Given the description of an element on the screen output the (x, y) to click on. 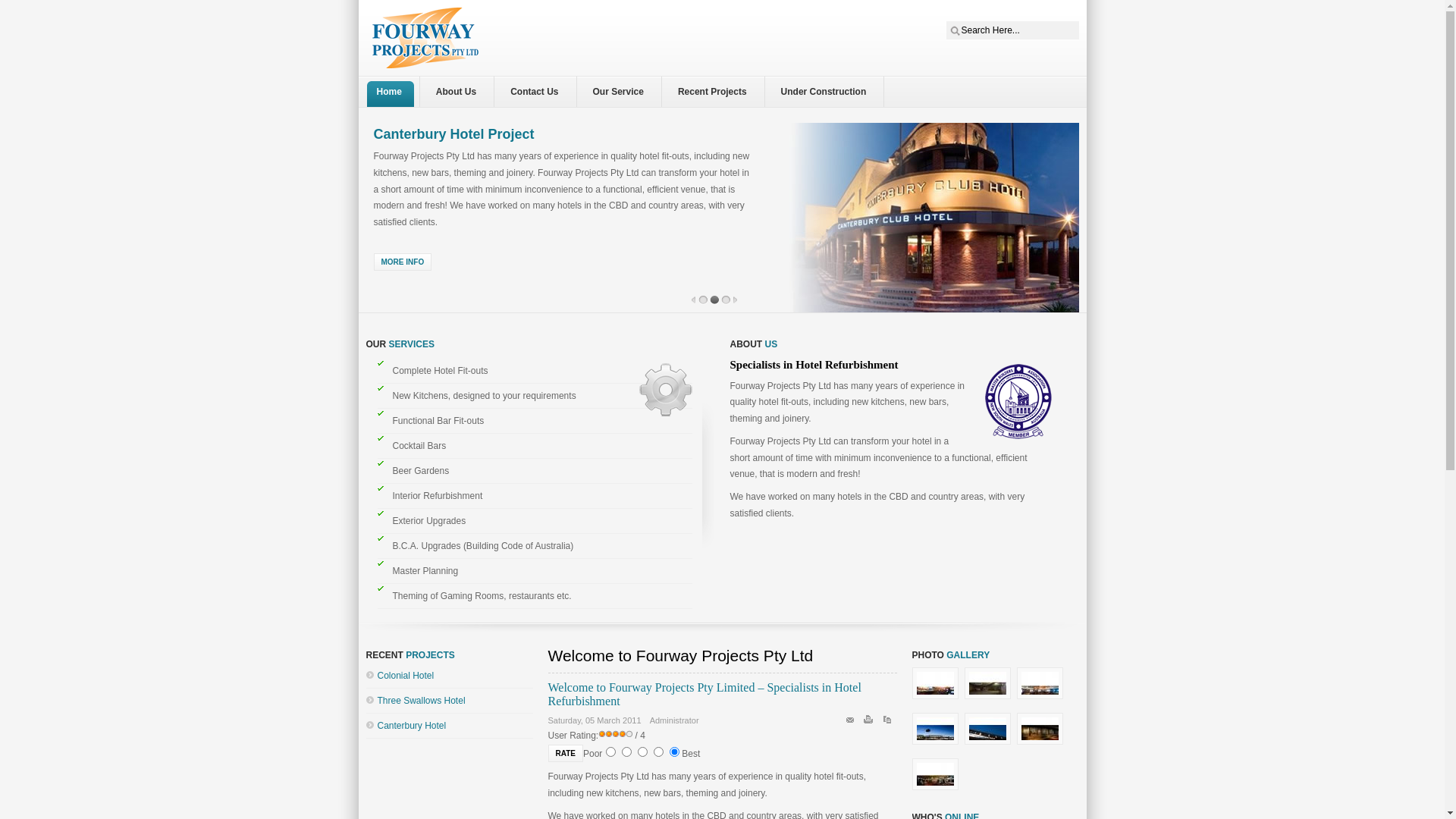
Photo Gallery Element type: hover (937, 745)
Home Element type: text (392, 91)
Photo Gallery Element type: hover (1041, 745)
Canterbury Hotel Project Element type: text (453, 133)
Our Service Element type: text (621, 91)
Recent Projects Element type: text (716, 91)
Photo Gallery Element type: hover (990, 745)
Colonial Hotel Element type: text (405, 675)
Print Element type: hover (870, 722)
Three Swallows Hotel Element type: text (421, 700)
About Us Element type: text (459, 91)
Contact Us Element type: text (537, 91)
Photo Gallery Element type: hover (990, 699)
Canterbury Hotel Element type: text (411, 725)
MORE INFO Element type: text (402, 261)
Photo Gallery Element type: hover (936, 790)
Three Swallows Hotel Project Element type: text (468, 133)
Photo Gallery Element type: hover (1041, 699)
Rate Element type: text (564, 753)
PDF Element type: hover (889, 722)
E-mail Element type: hover (851, 722)
Under Construction Element type: text (827, 91)
Photo Gallery Element type: hover (937, 699)
